Given the description of an element on the screen output the (x, y) to click on. 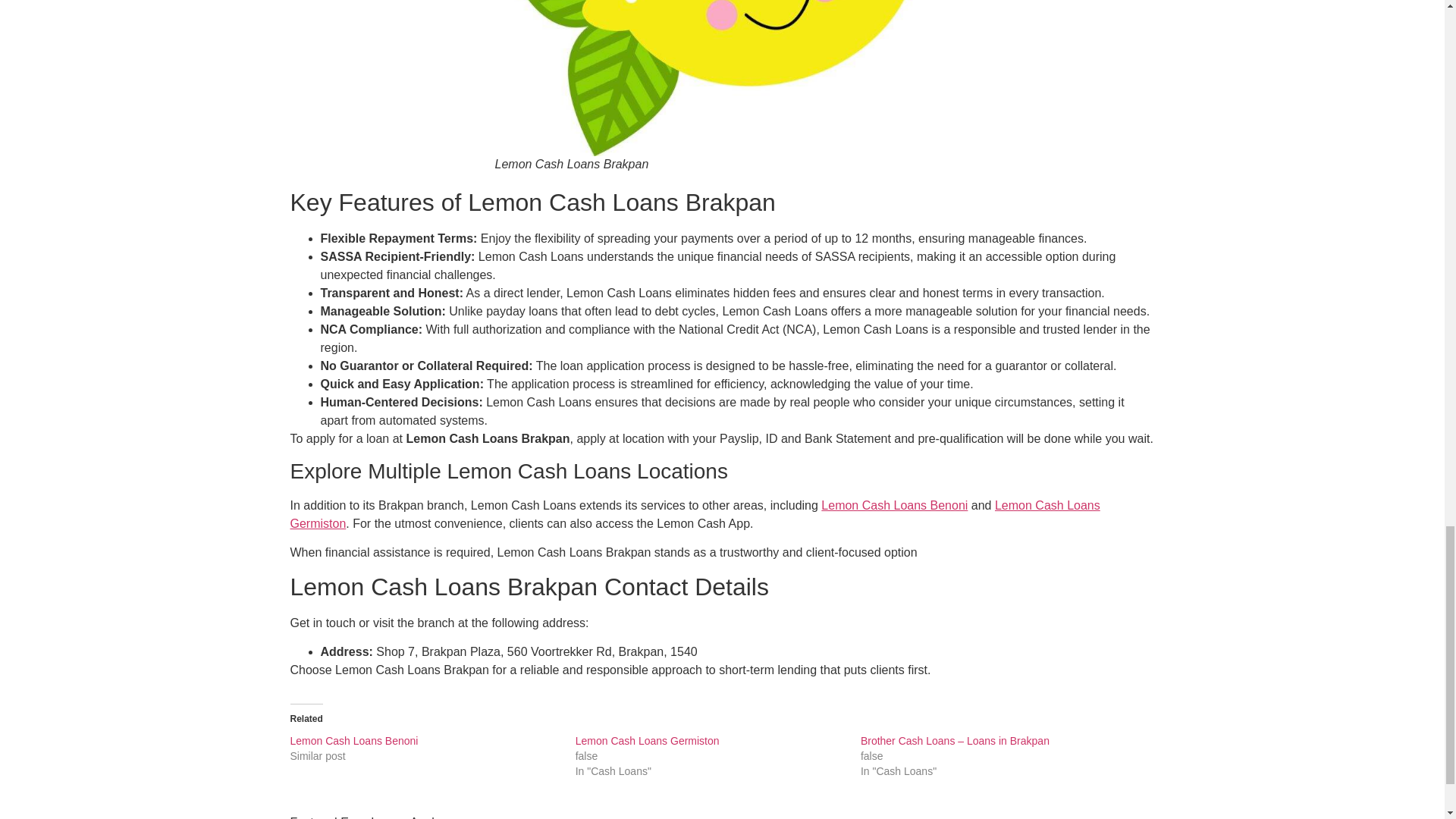
Lemon Cash Loans Benoni (353, 740)
Lemon Cash Loans Germiston (647, 740)
Lemon Cash Loans Benoni (894, 504)
Lemon Cash Loans Germiston (694, 513)
Lemon Cash Loans Benoni (353, 740)
Lemon Cash Loans Germiston (647, 740)
